Given the description of an element on the screen output the (x, y) to click on. 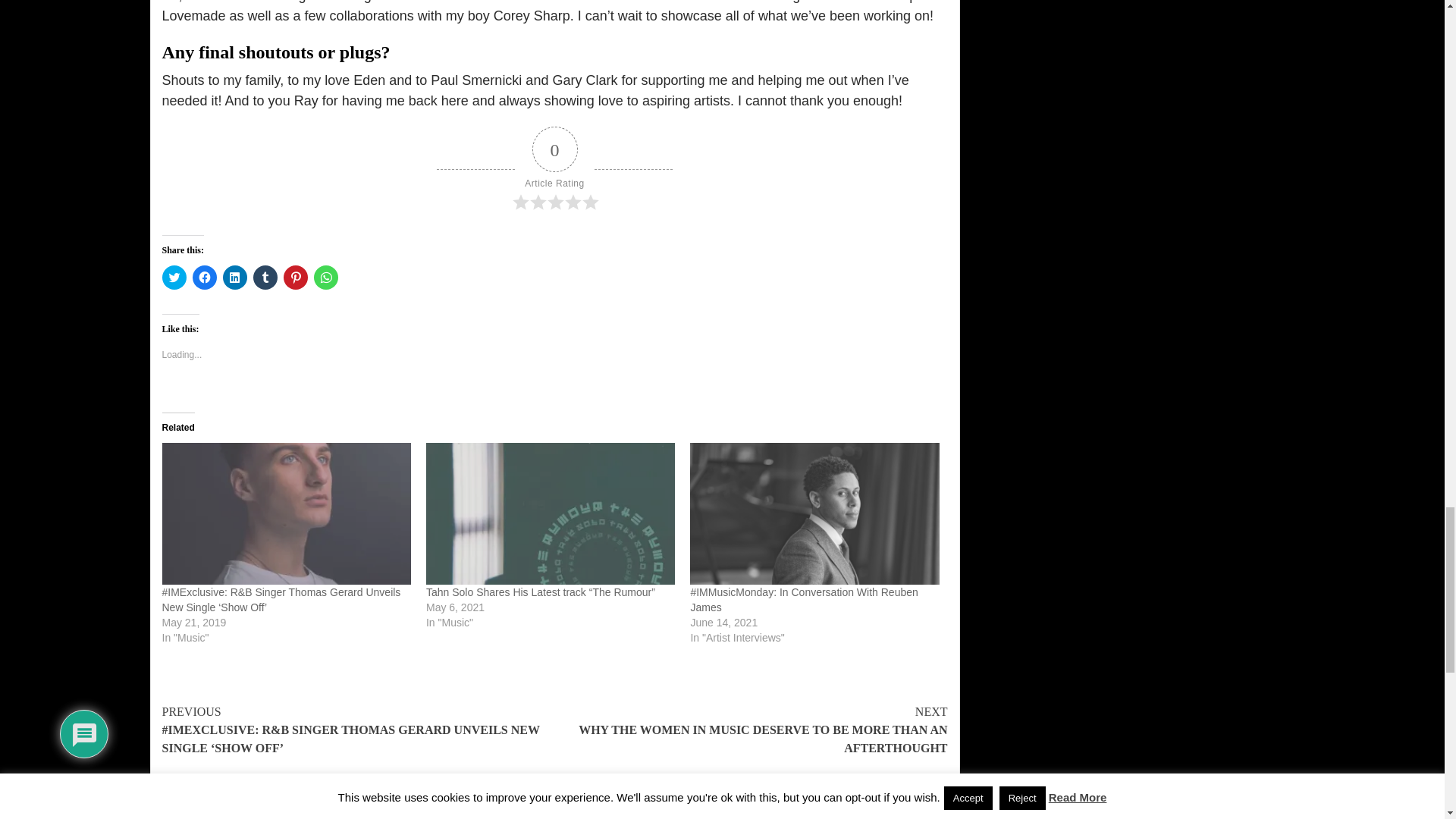
Click to share on Twitter (173, 277)
Click to share on Facebook (204, 277)
Click to share on Tumblr (265, 277)
Click to share on LinkedIn (234, 277)
Click to share on Pinterest (295, 277)
Click to share on WhatsApp (325, 277)
